Given the description of an element on the screen output the (x, y) to click on. 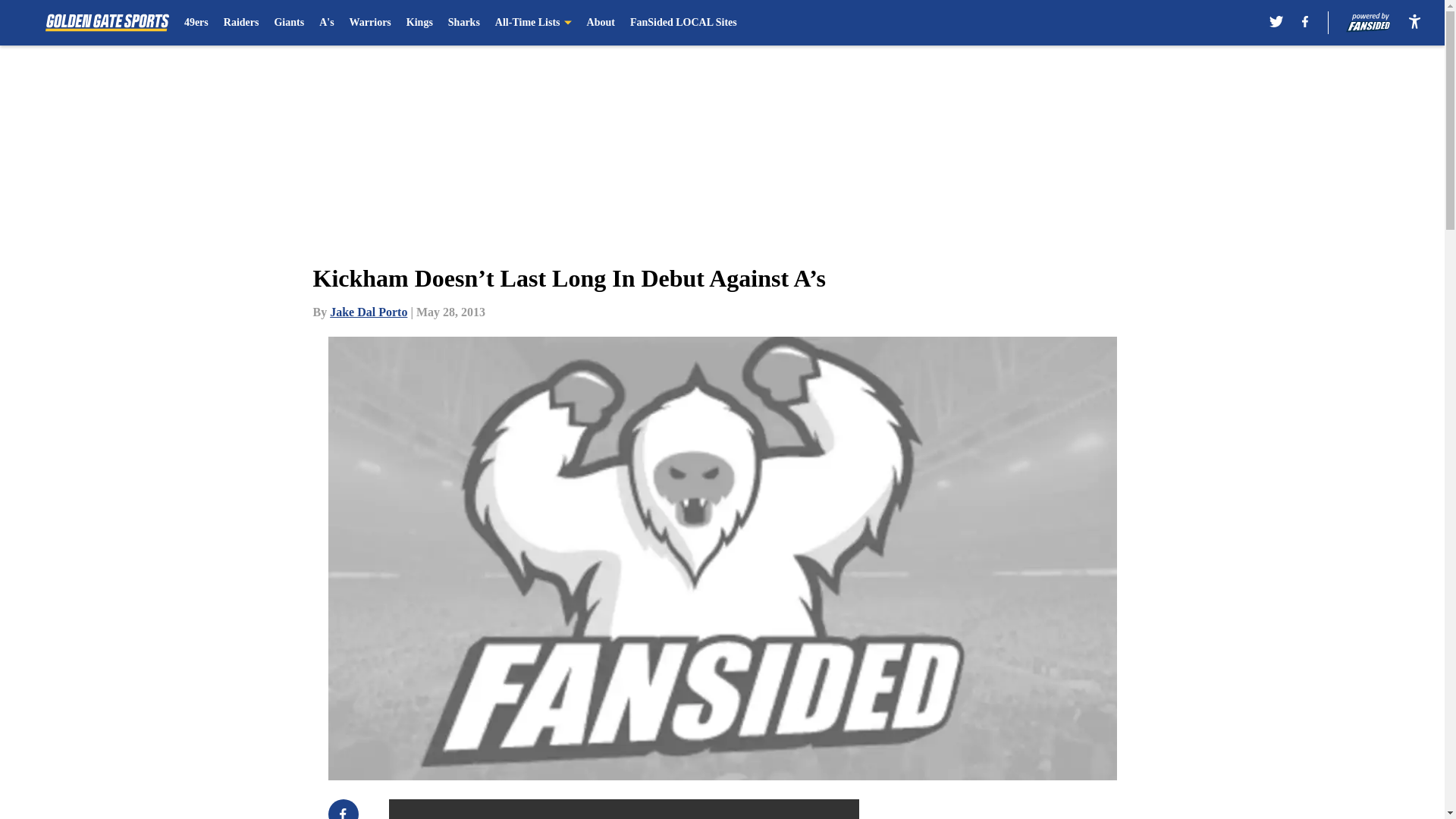
Giants (288, 22)
About (600, 22)
Warriors (370, 22)
49ers (196, 22)
3rd party ad content (1047, 809)
Raiders (241, 22)
FanSided LOCAL Sites (683, 22)
Jake Dal Porto (368, 311)
Kings (419, 22)
A's (325, 22)
Sharks (464, 22)
